Given the description of an element on the screen output the (x, y) to click on. 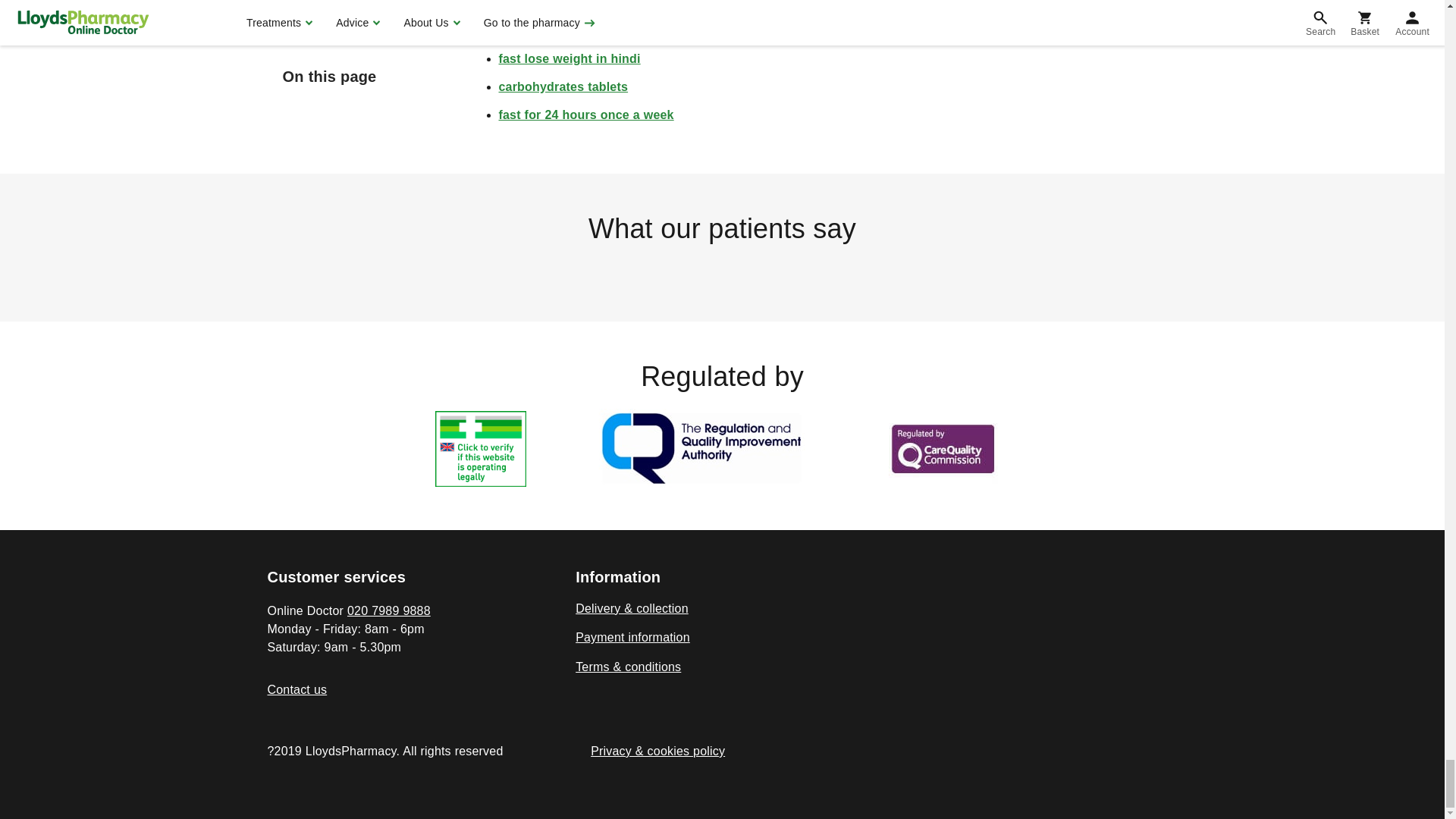
Customer reviews powered by Trustpilot (721, 272)
CareQuality Commission logo (942, 448)
